Given the description of an element on the screen output the (x, y) to click on. 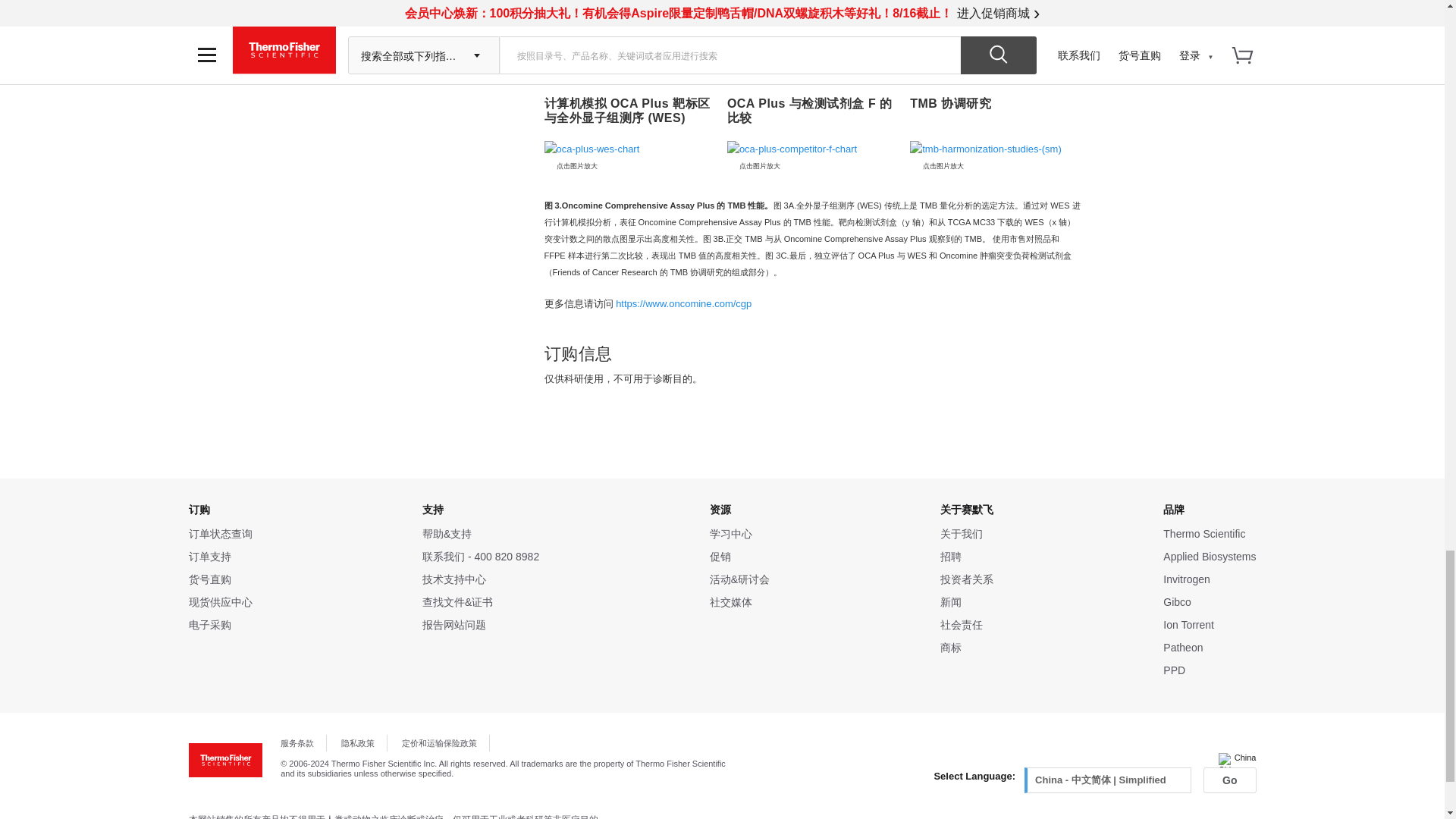
oca-plus-wes-chart (630, 149)
oca-plus-competitor-f-chart (812, 149)
